Given the description of an element on the screen output the (x, y) to click on. 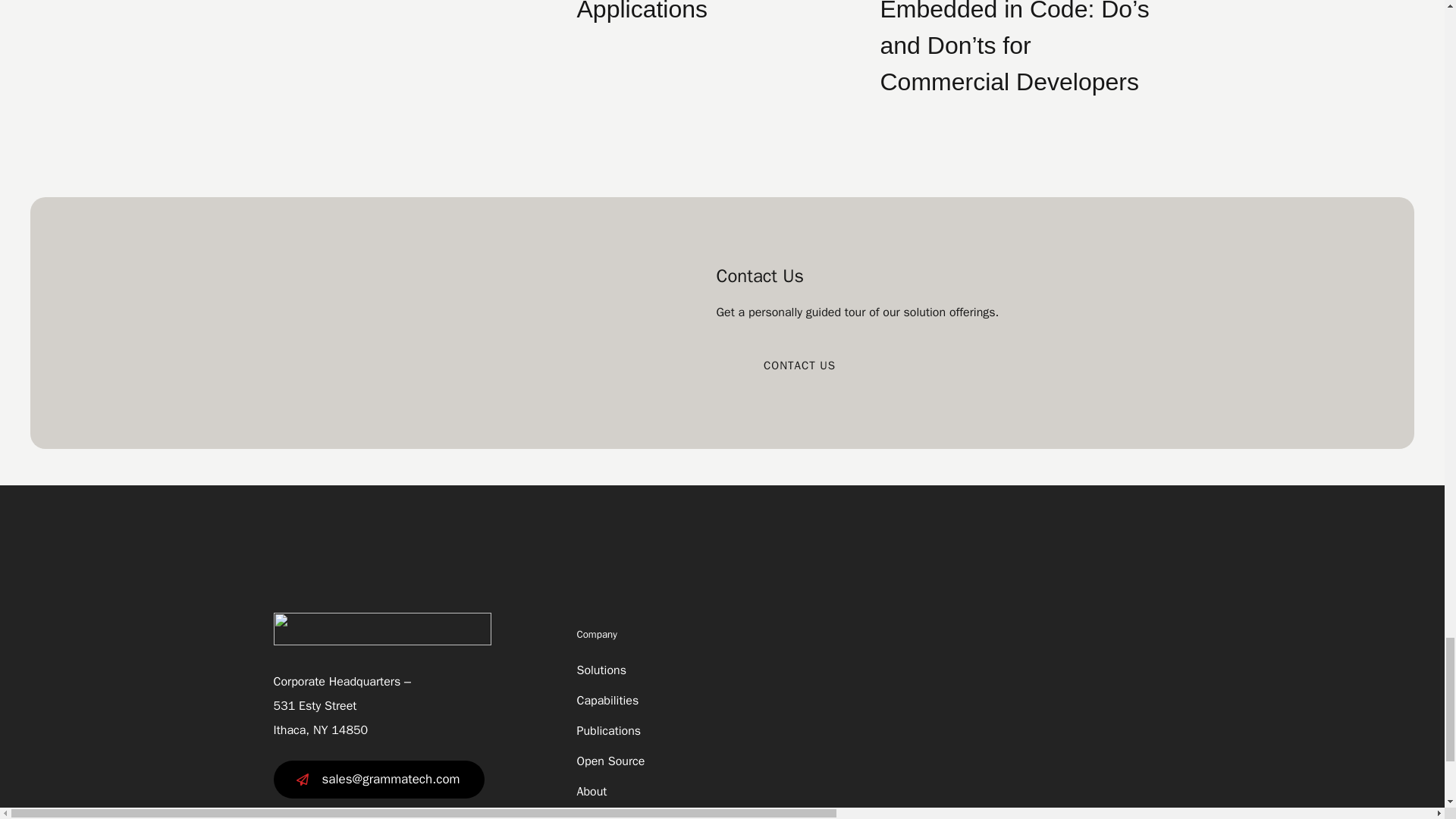
Hacking Embedded Applications (681, 11)
